Given the description of an element on the screen output the (x, y) to click on. 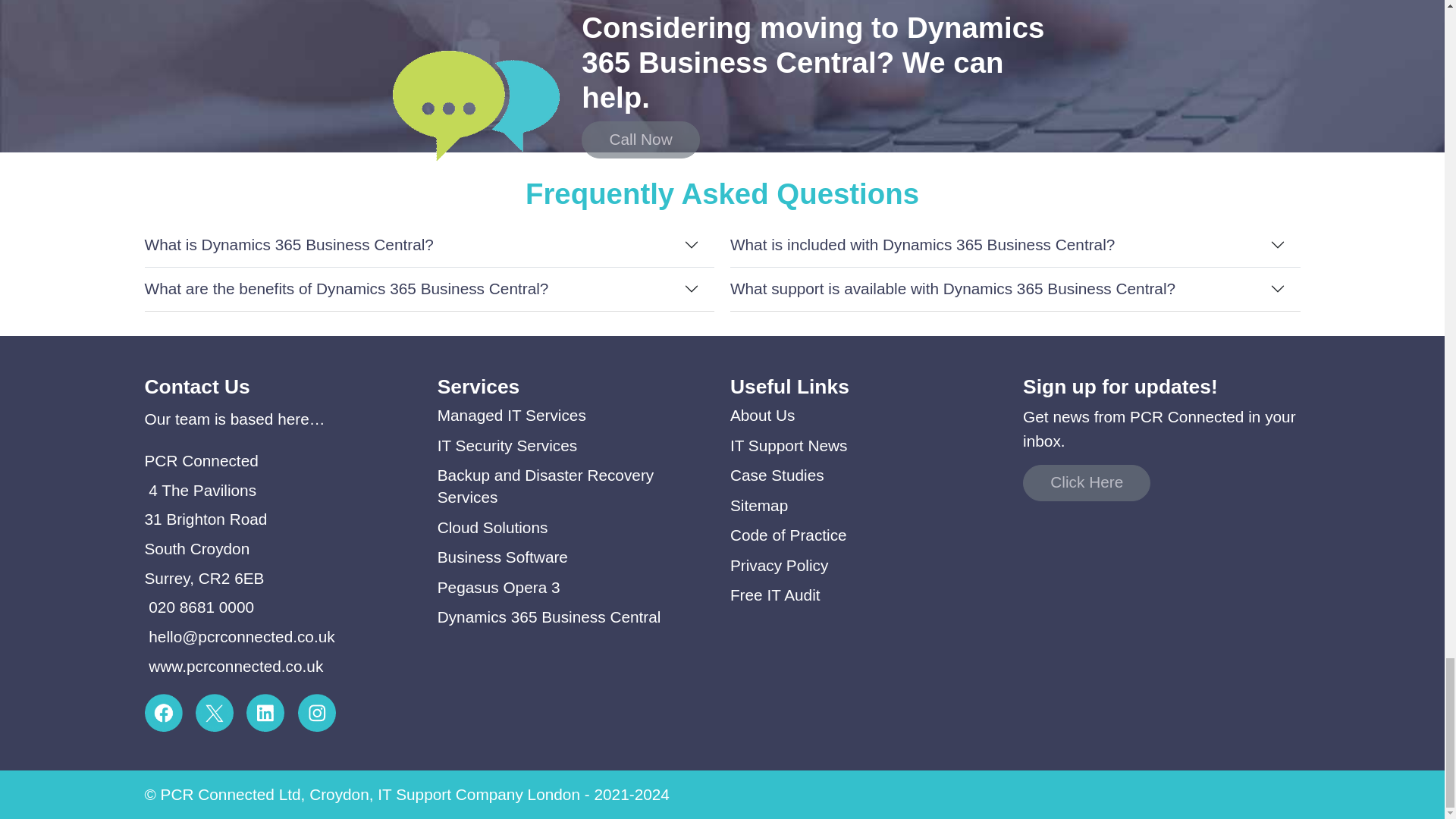
Managed IT Services (512, 415)
Dynamics 365 Business Central Support London (549, 616)
